Given the description of an element on the screen output the (x, y) to click on. 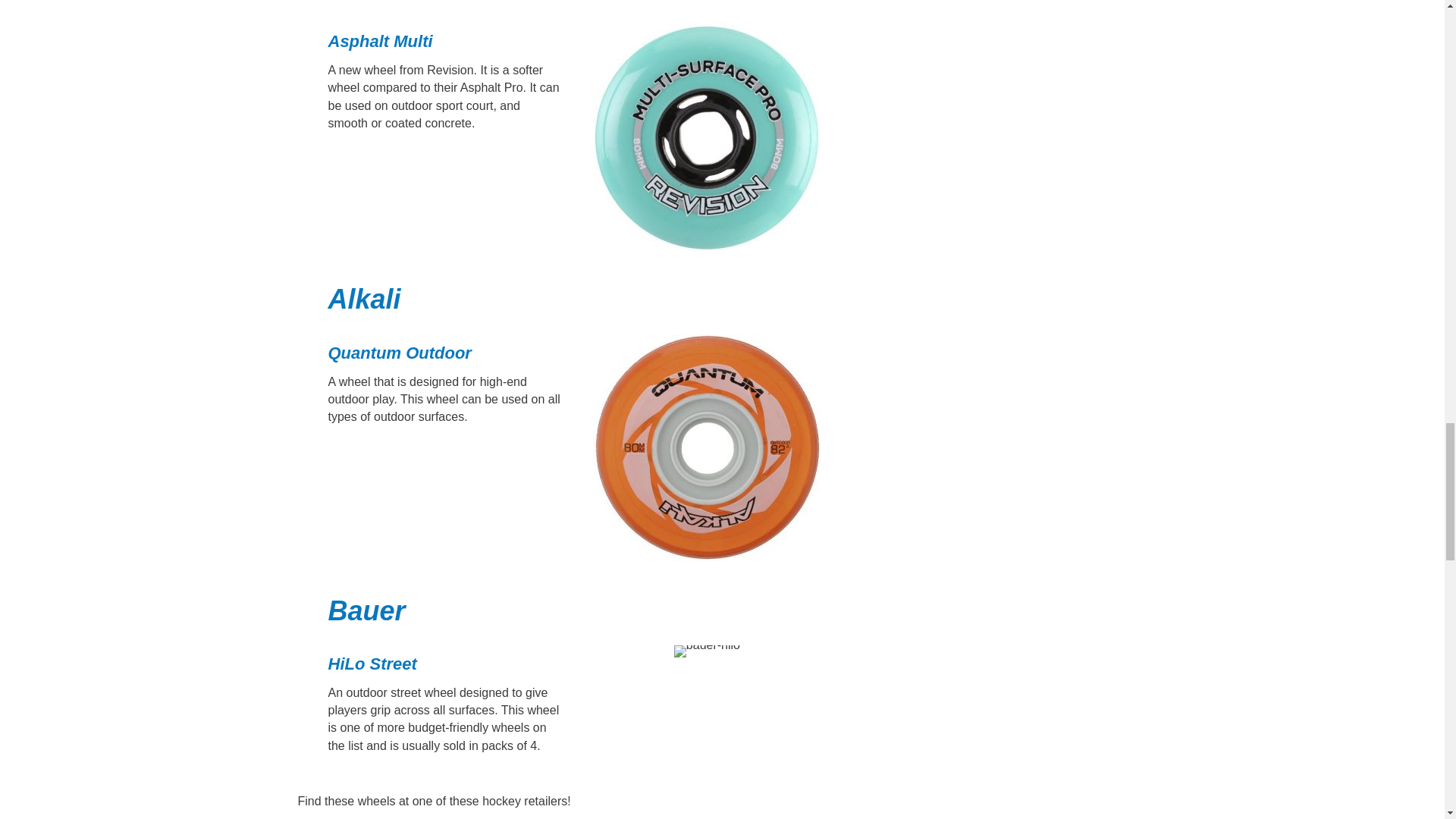
bauer-hilo (706, 651)
revision-multi (706, 136)
alkali-quantum (706, 447)
